Given the description of an element on the screen output the (x, y) to click on. 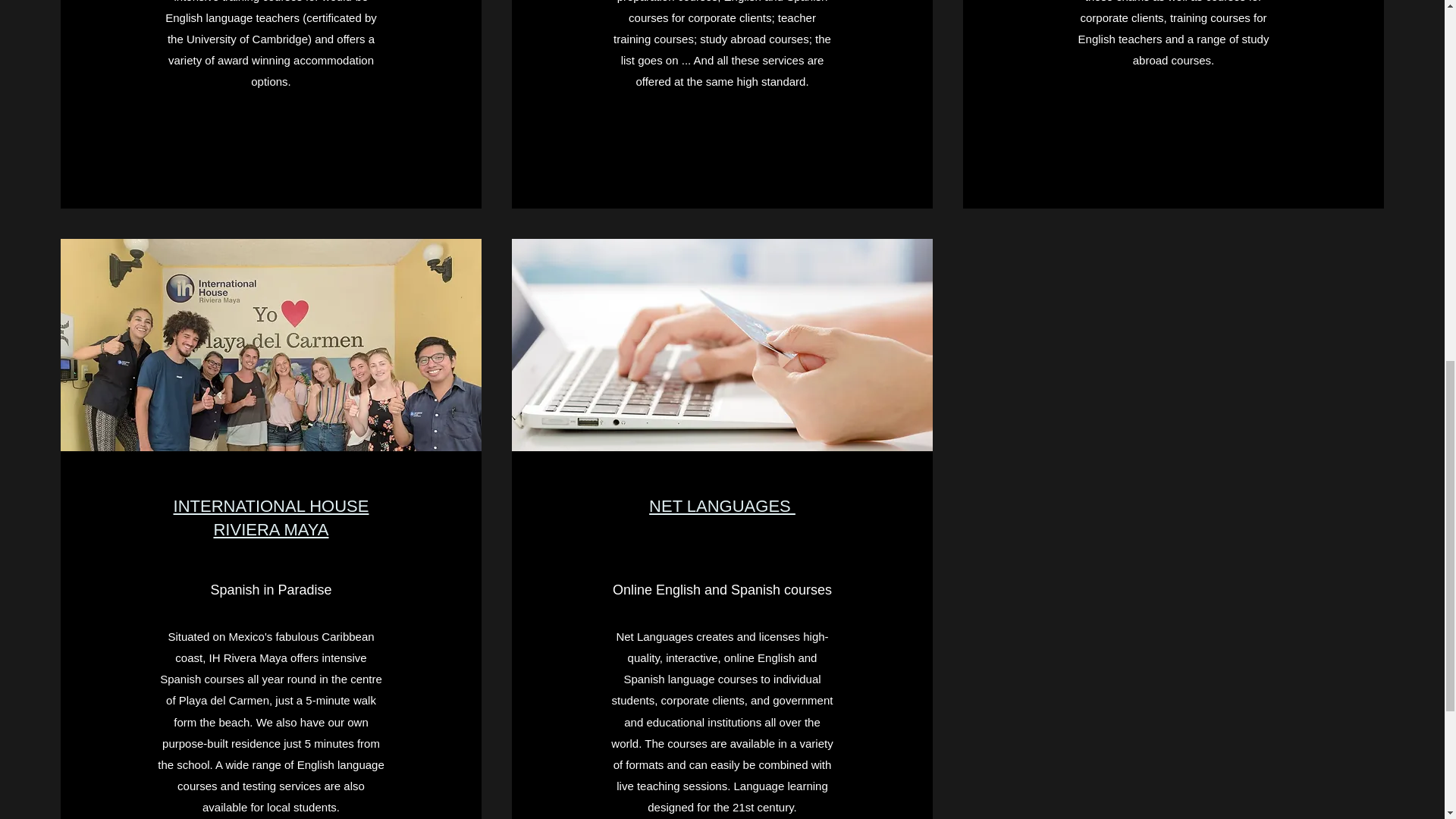
NET LANGUAGES  (721, 505)
INTERNATIONAL HOUSE RIVIERA MAYA (271, 517)
